Given the description of an element on the screen output the (x, y) to click on. 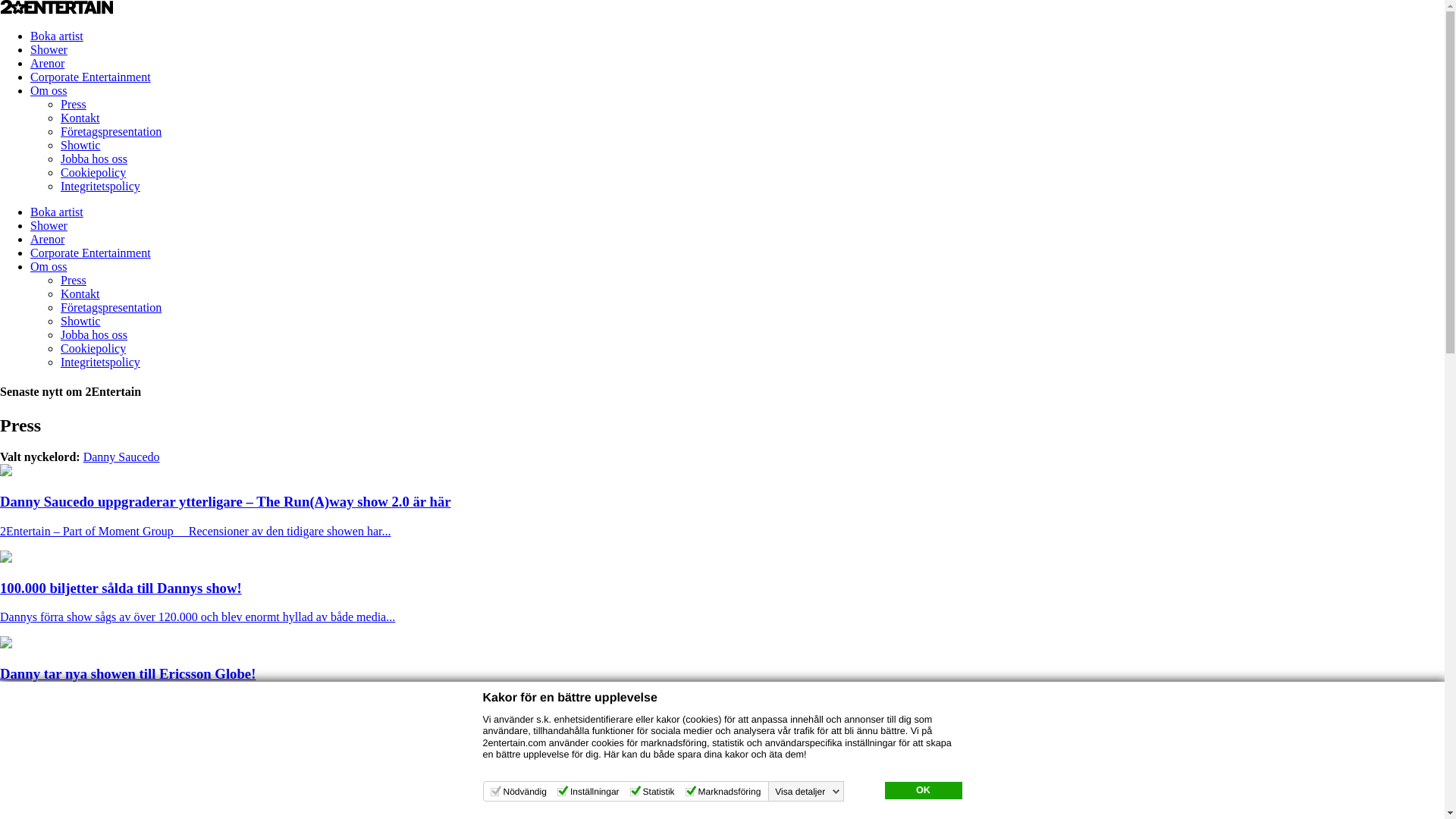
Press Element type: text (73, 103)
OK Element type: text (922, 790)
Integritetspolicy Element type: text (100, 185)
Arenor Element type: text (47, 238)
Jobba hos oss Element type: text (93, 334)
Corporate Entertainment Element type: text (90, 252)
Showtic Element type: text (80, 144)
Cookiepolicy Element type: text (92, 348)
Corporate Entertainment Element type: text (90, 76)
Visa detaljer Element type: text (807, 791)
Integritetspolicy Element type: text (100, 361)
Om oss Element type: text (48, 90)
Shower Element type: text (48, 49)
Kontakt Element type: text (80, 293)
Shower Element type: text (48, 225)
Cookiepolicy Element type: text (92, 172)
Press Element type: text (73, 279)
Jobba hos oss Element type: text (93, 158)
Danny Saucedo Element type: text (121, 456)
Showtic Element type: text (80, 320)
Om oss Element type: text (48, 266)
Boka artist Element type: text (56, 211)
Boka artist Element type: text (56, 35)
Arenor Element type: text (47, 62)
Kontakt Element type: text (80, 117)
